Given the description of an element on the screen output the (x, y) to click on. 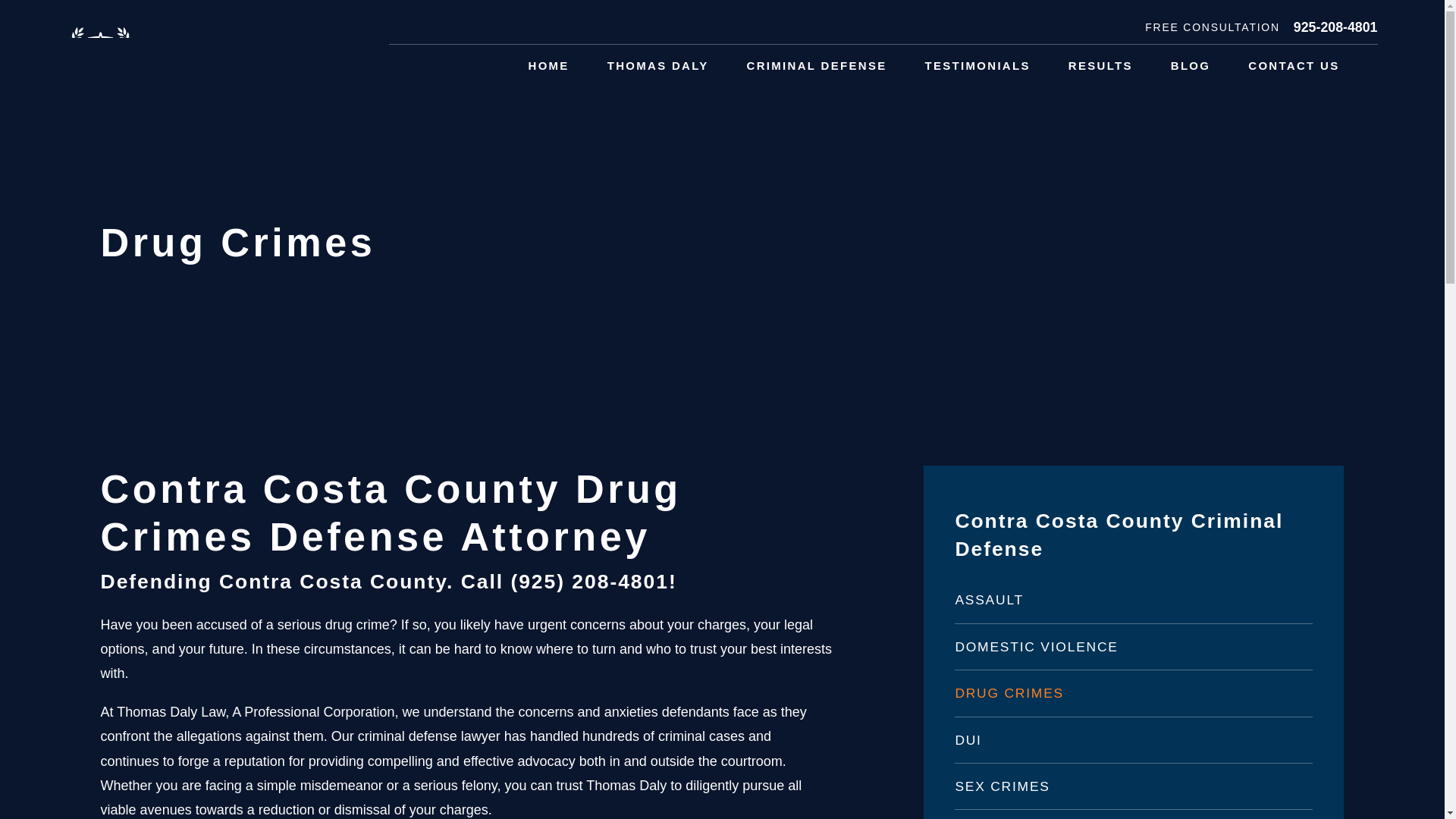
THOMAS DALY (658, 66)
CRIMINAL DEFENSE (816, 66)
Thomas Daly Law, A Professional Corporation (208, 49)
HOME (548, 66)
925-208-4801 (1335, 28)
Home (208, 49)
